Given the description of an element on the screen output the (x, y) to click on. 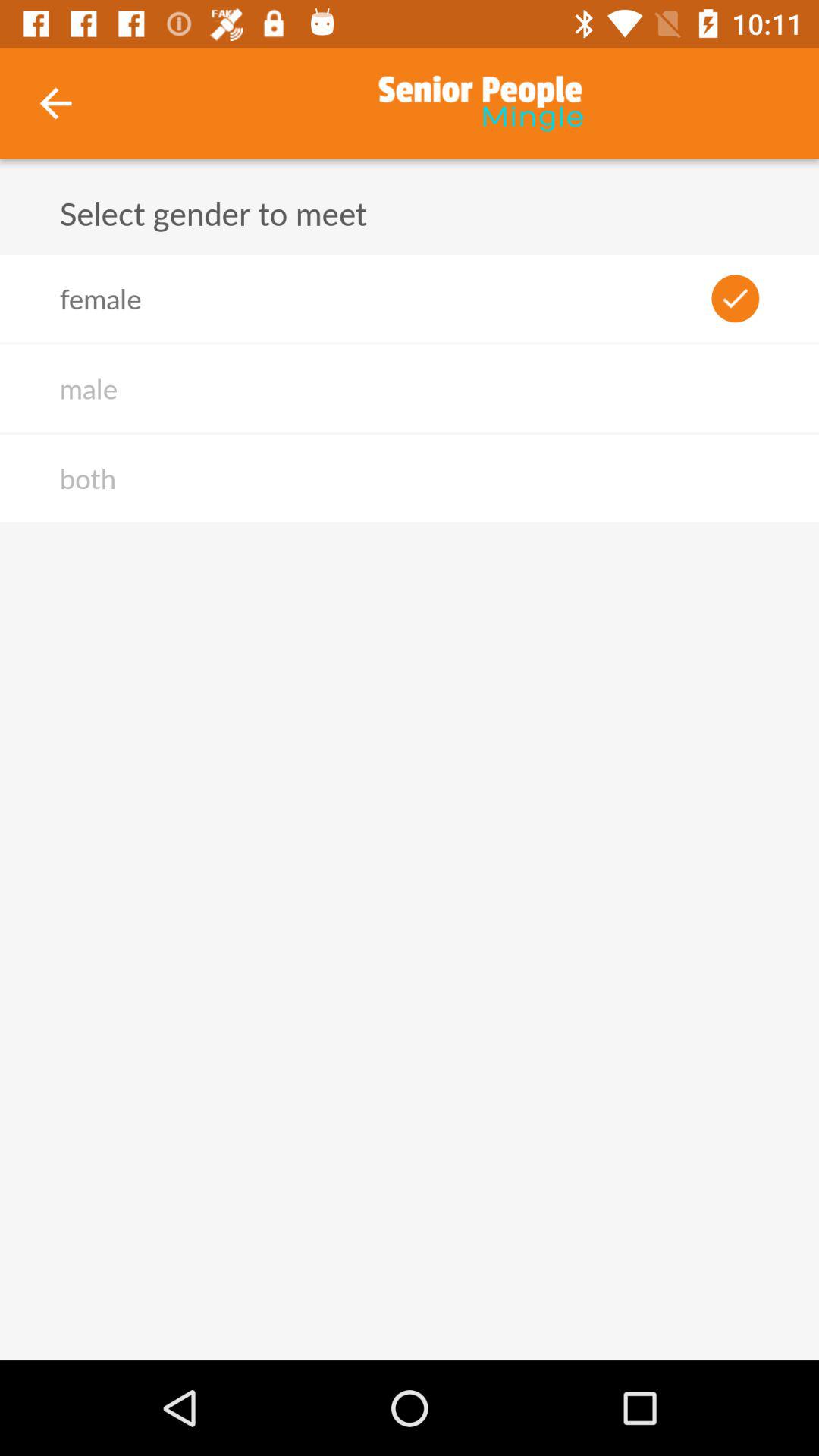
flip until the both icon (87, 477)
